Given the description of an element on the screen output the (x, y) to click on. 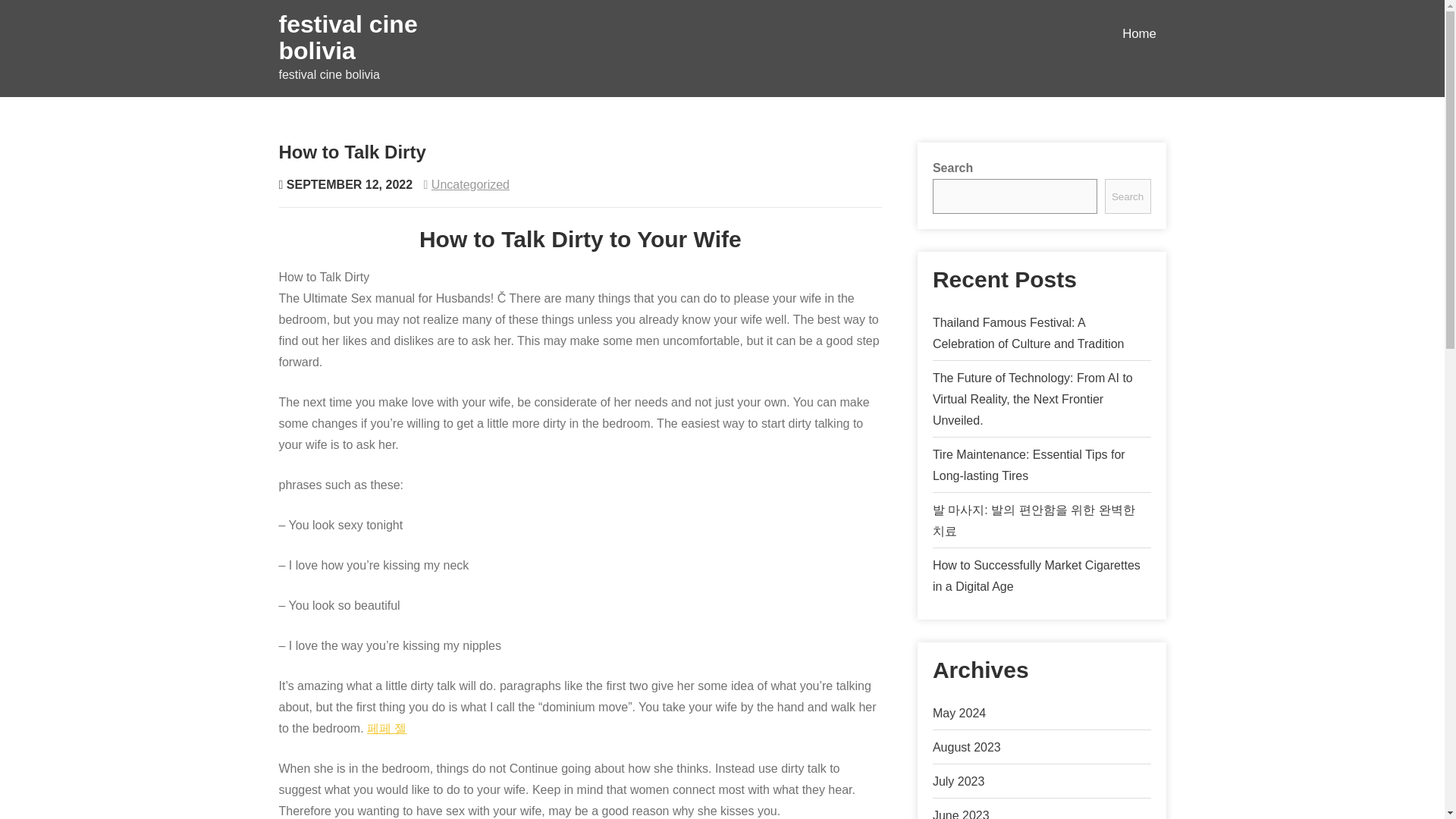
Search (1128, 196)
How to Successfully Market Cigarettes in a Digital Age (1036, 575)
August 2023 (967, 747)
June 2023 (961, 814)
Tire Maintenance: Essential Tips for Long-lasting Tires (1029, 464)
Uncategorized (469, 184)
July 2023 (959, 780)
May 2024 (959, 712)
